Given the description of an element on the screen output the (x, y) to click on. 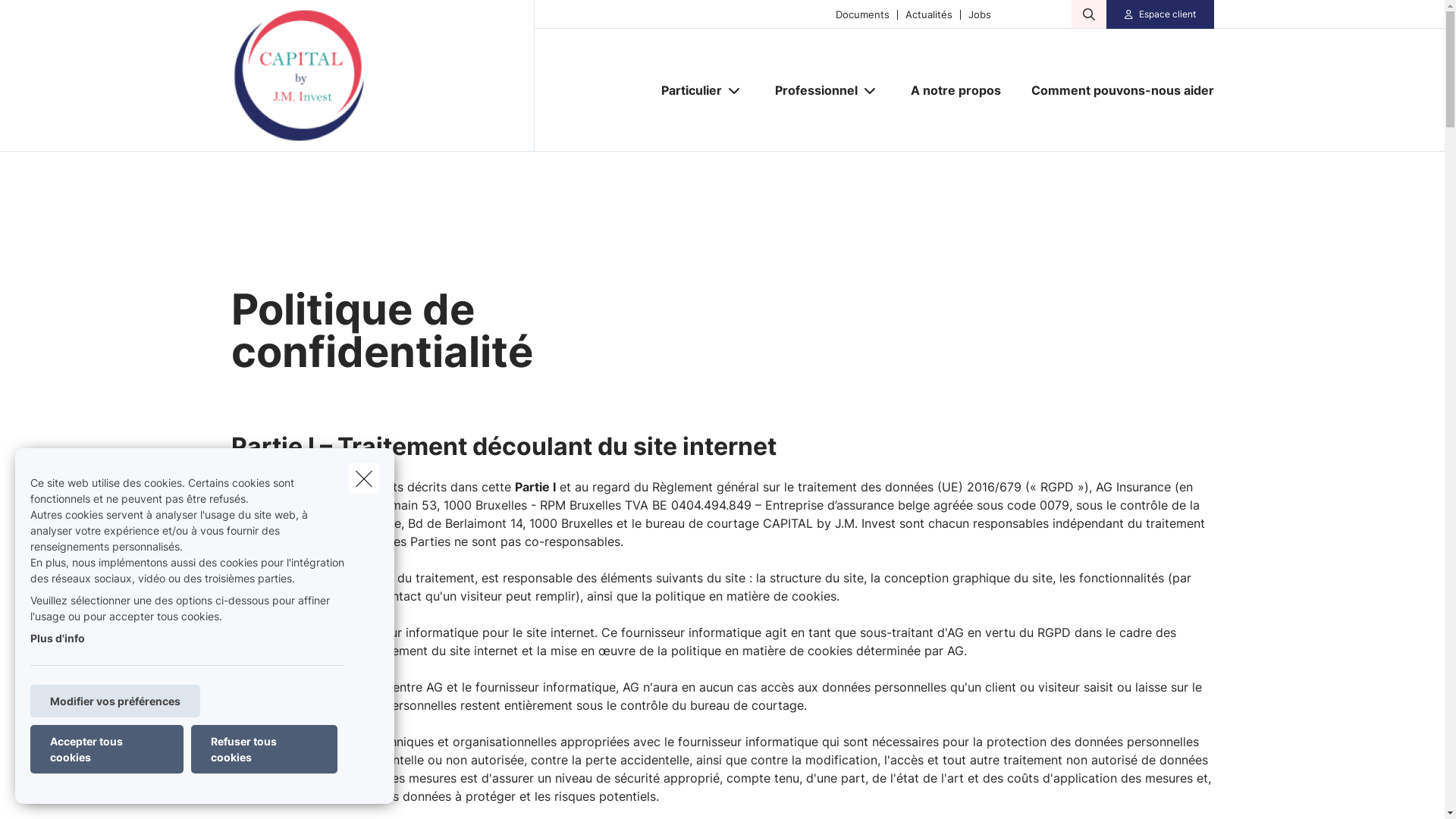
Jobs Element type: text (974, 13)
Comment pouvons-nous aider Element type: text (1115, 89)
Refuser tous cookies Element type: text (264, 748)
Accepter tous cookies Element type: text (106, 748)
Espace client Element type: text (1158, 14)
Professionnel Element type: text (810, 89)
Documents Element type: text (857, 13)
Espace client Element type: text (1167, 14)
Plus d'info Element type: text (57, 637)
A notre propos Element type: text (954, 89)
Rechercher Element type: text (54, 18)
Particulier Element type: text (685, 89)
